Given the description of an element on the screen output the (x, y) to click on. 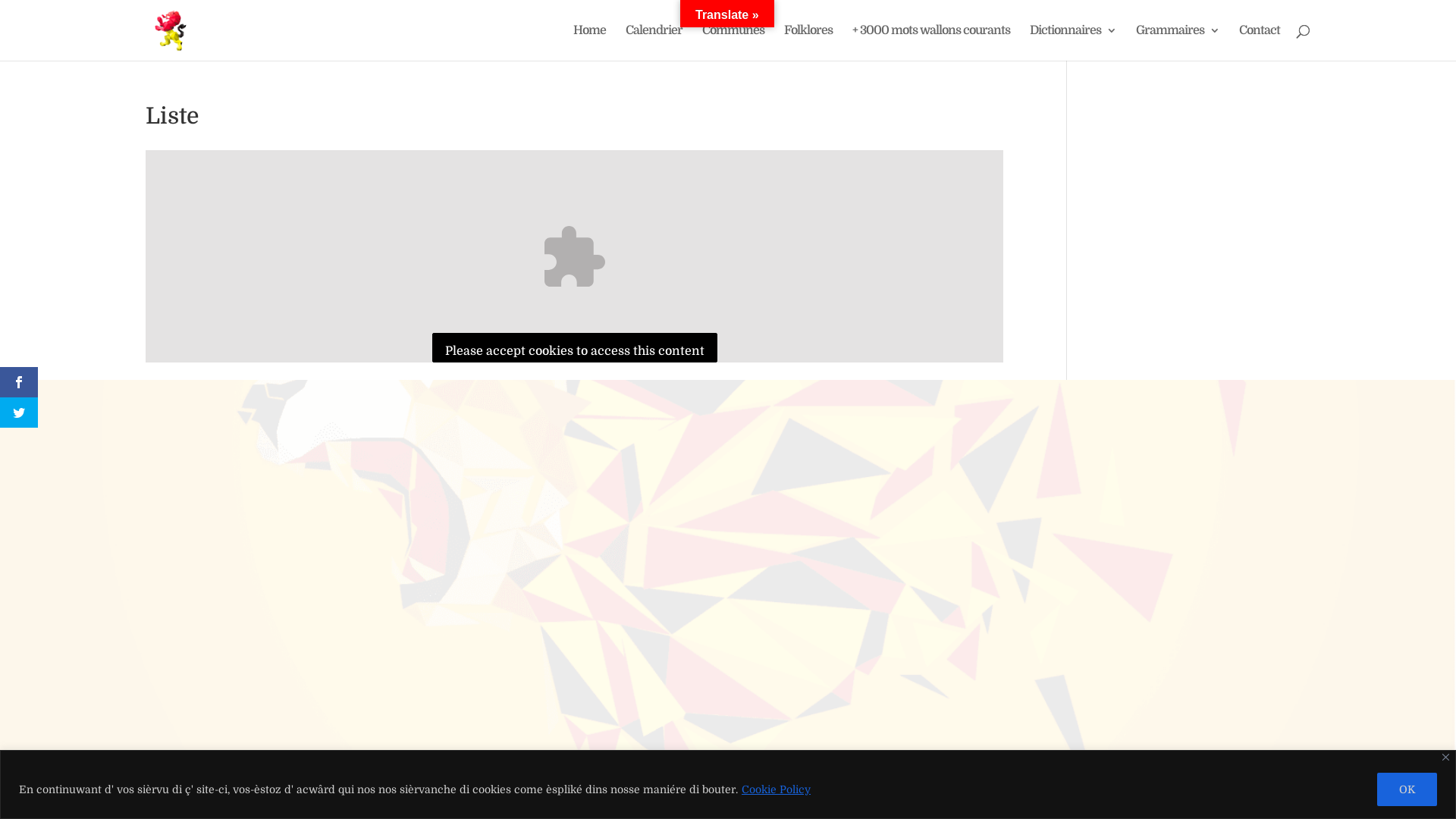
Cookie Policy Element type: text (775, 789)
Home Element type: text (589, 42)
Dictionnaires Element type: text (1072, 42)
Communes Element type: text (733, 42)
Contact Element type: text (1259, 42)
+ 3000 mots wallons courants Element type: text (931, 42)
Folklores Element type: text (808, 42)
Grammaires Element type: text (1177, 42)
Calendrier Element type: text (653, 42)
OK Element type: text (1407, 788)
